Given the description of an element on the screen output the (x, y) to click on. 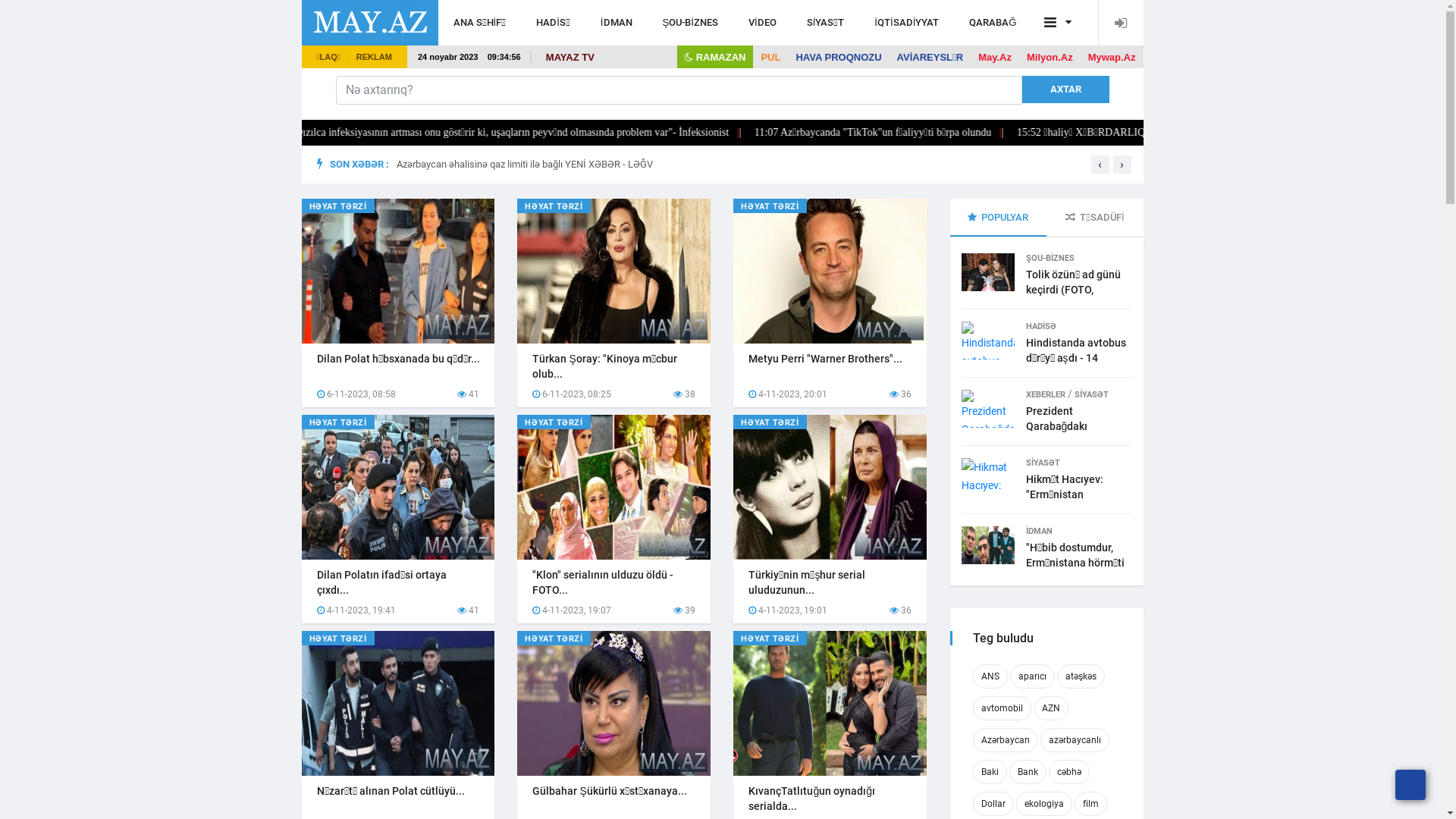
VIDEO Element type: text (762, 22)
MAYAZ TV Element type: text (570, 56)
avtomobil Element type: text (1001, 708)
ANS Element type: text (989, 676)
REKLAM Element type: text (373, 56)
XEBERLER Element type: text (1044, 394)
May.Az Element type: text (994, 56)
Dollar Element type: text (992, 803)
AXTAR Element type: text (1065, 89)
Metyu Perri "Warner Brothers"... Element type: text (825, 358)
Bank Element type: text (1026, 771)
film Element type: text (1089, 803)
Baki Element type: text (989, 771)
PUL Element type: text (770, 56)
HAVA PROQNOZU Element type: text (838, 56)
RAMAZAN Element type: text (714, 56)
POPULYAR Element type: text (997, 217)
Milyon.Az Element type: text (1049, 56)
ekologiya Element type: text (1044, 803)
Mywap.Az Element type: text (1111, 56)
AZN Element type: text (1049, 708)
